Given the description of an element on the screen output the (x, y) to click on. 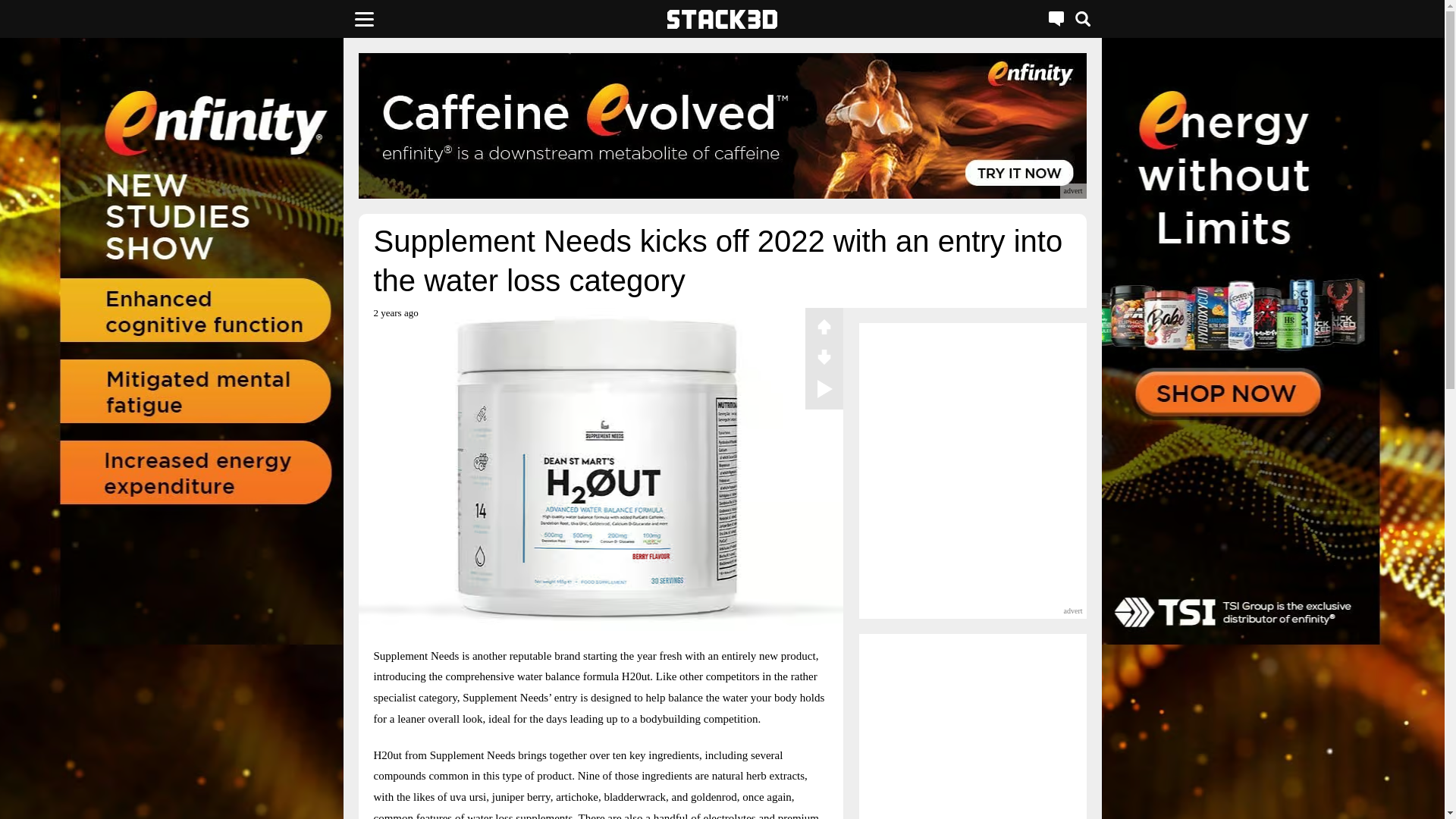
January 24th 2022 (395, 318)
